Given the description of an element on the screen output the (x, y) to click on. 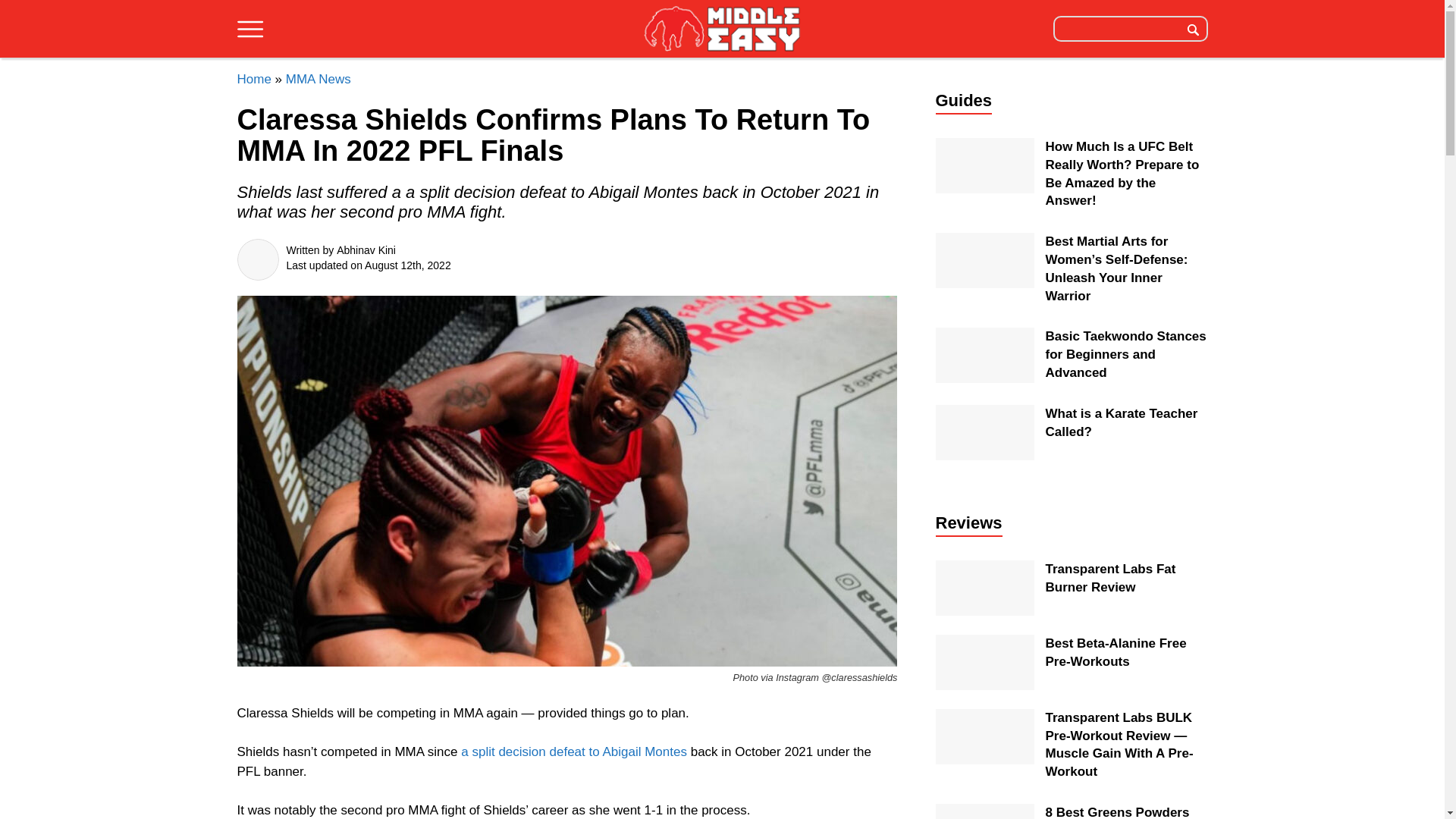
MiddleEasy (721, 28)
GO (1193, 28)
MiddleEasy (721, 29)
